Given the description of an element on the screen output the (x, y) to click on. 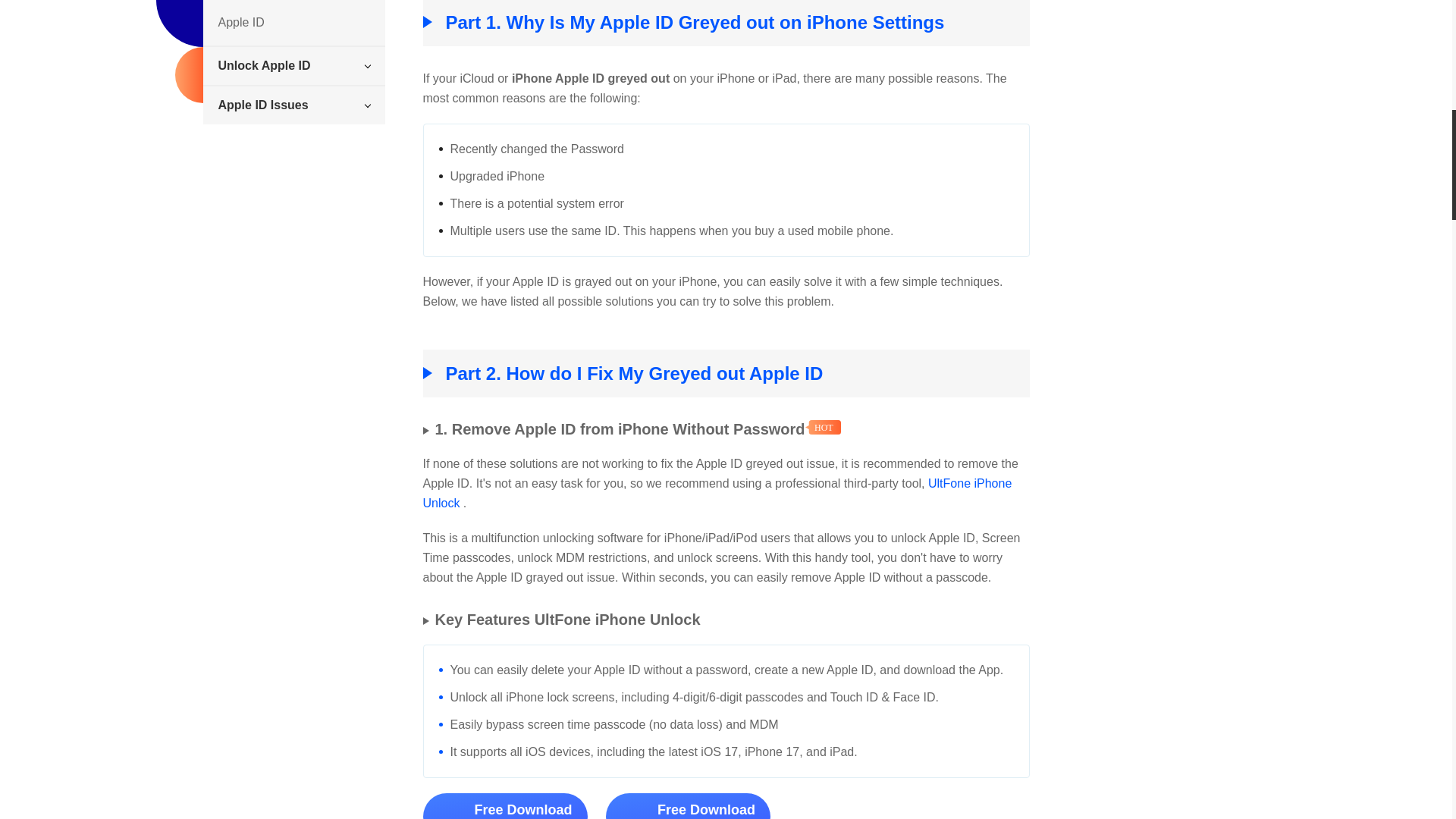
HOT (823, 427)
